Given the description of an element on the screen output the (x, y) to click on. 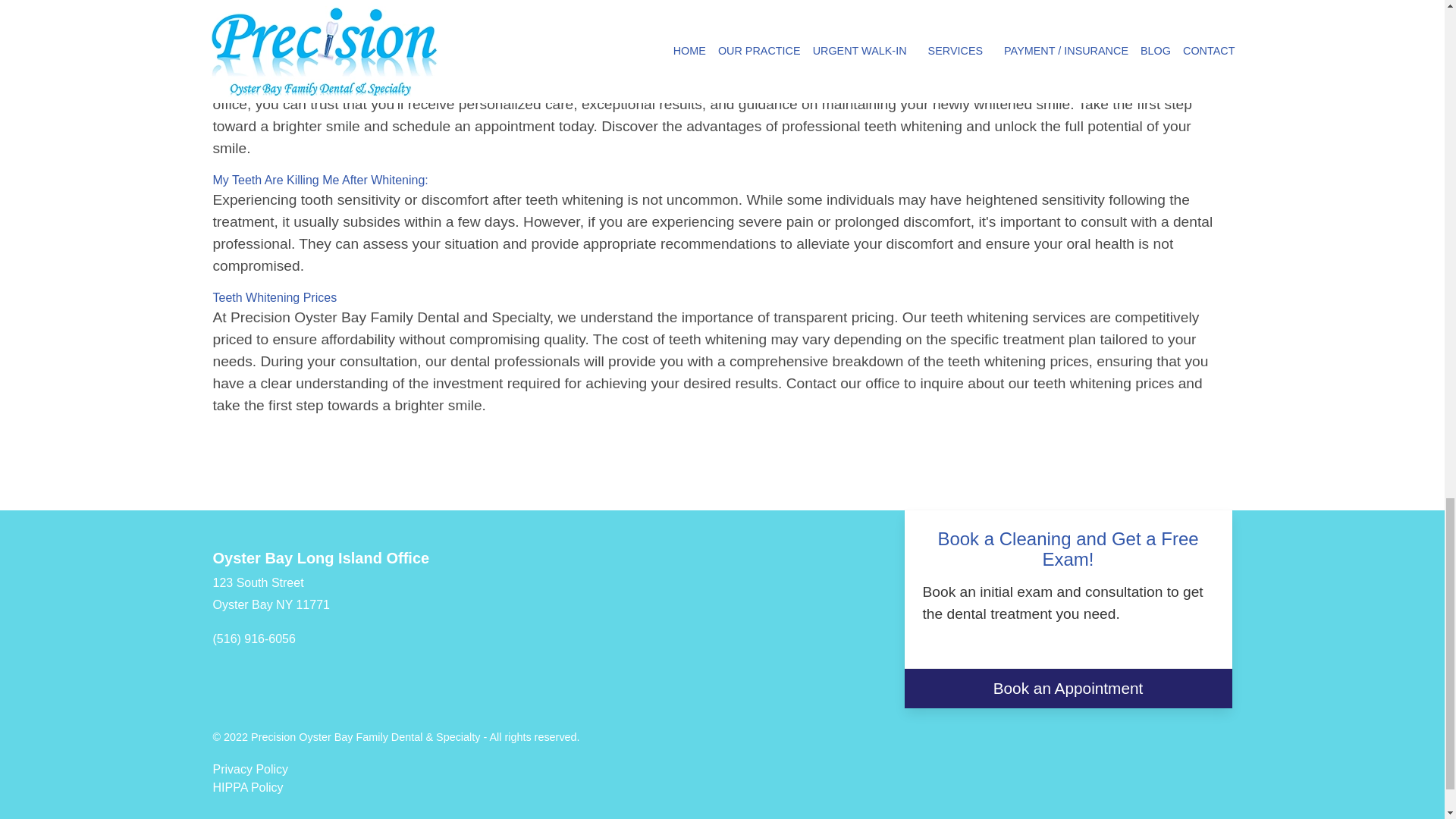
Book an Appointment (1067, 688)
HIPPA Policy (247, 787)
Privacy Policy (250, 768)
